Given the description of an element on the screen output the (x, y) to click on. 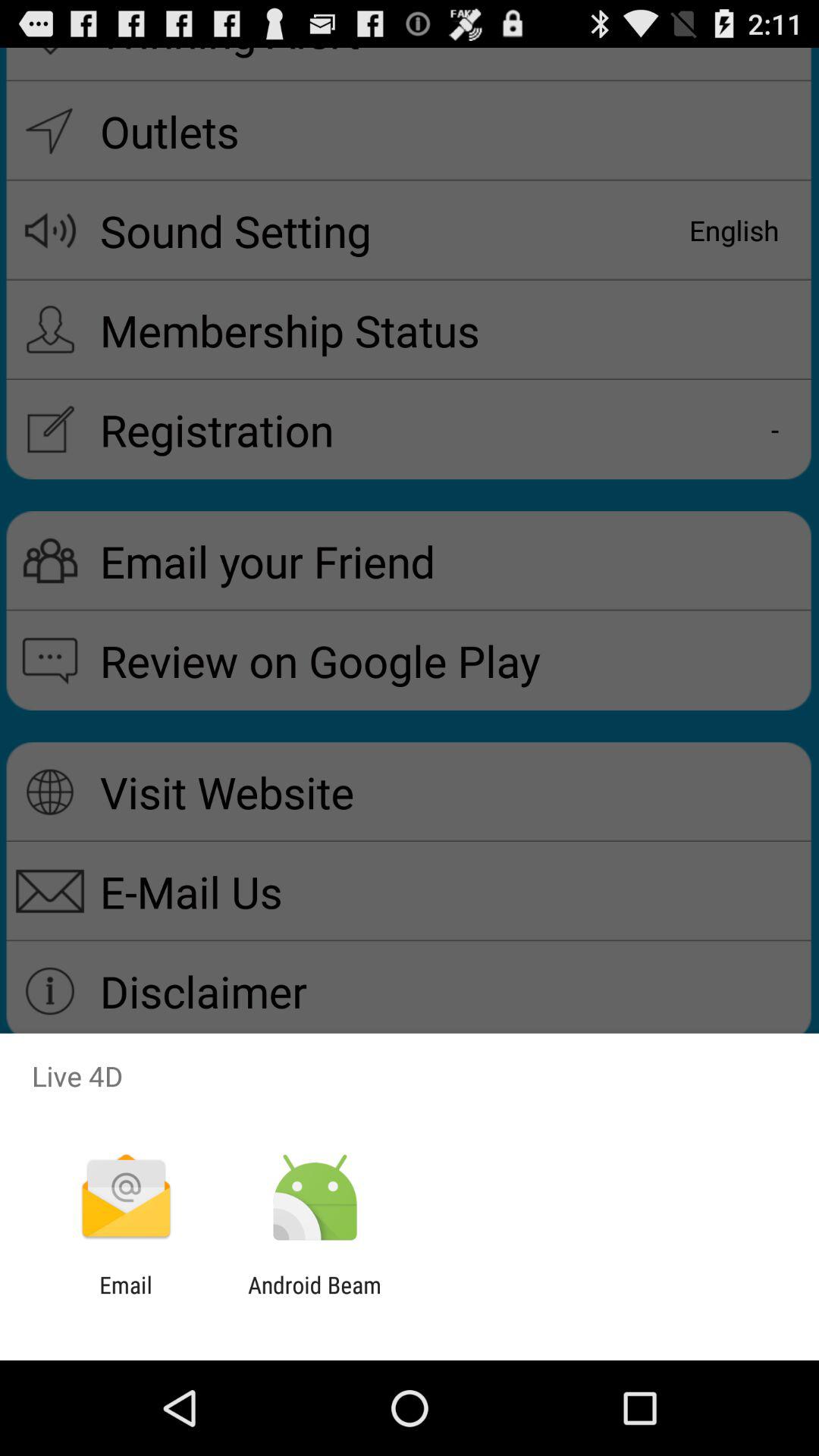
choose icon next to the android beam icon (125, 1298)
